Given the description of an element on the screen output the (x, y) to click on. 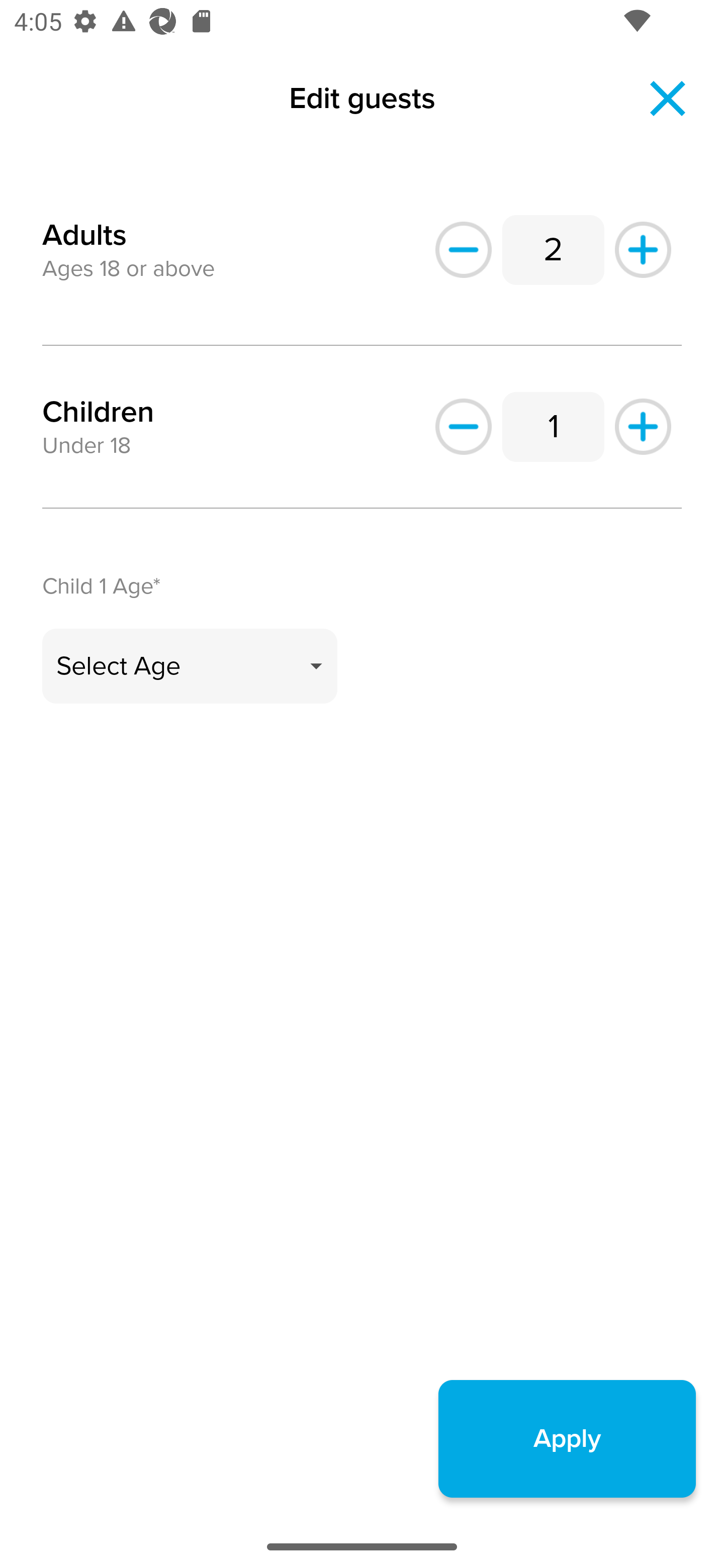
Adults (83, 223)
Children (97, 412)
Select Age (189, 666)
Apply (566, 1438)
